Given the description of an element on the screen output the (x, y) to click on. 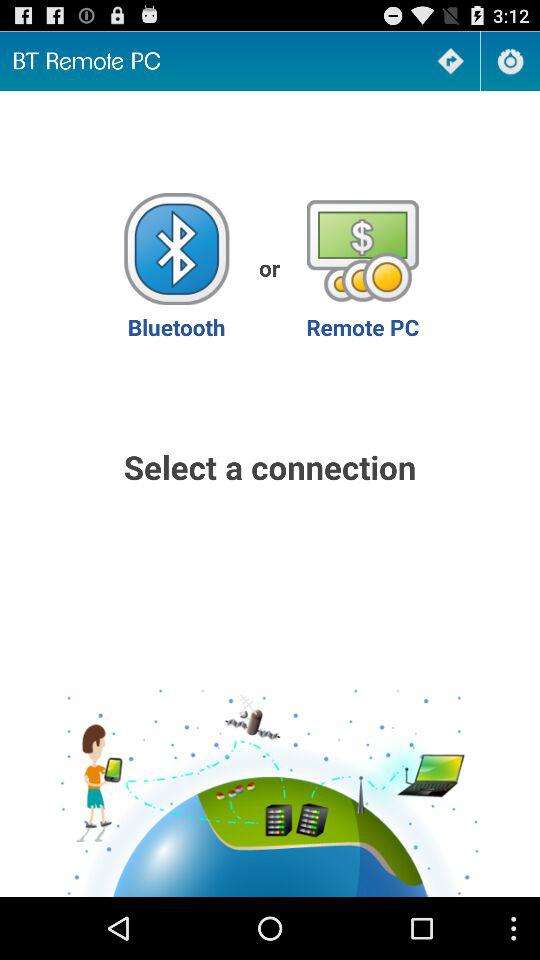
get direction (450, 60)
